Given the description of an element on the screen output the (x, y) to click on. 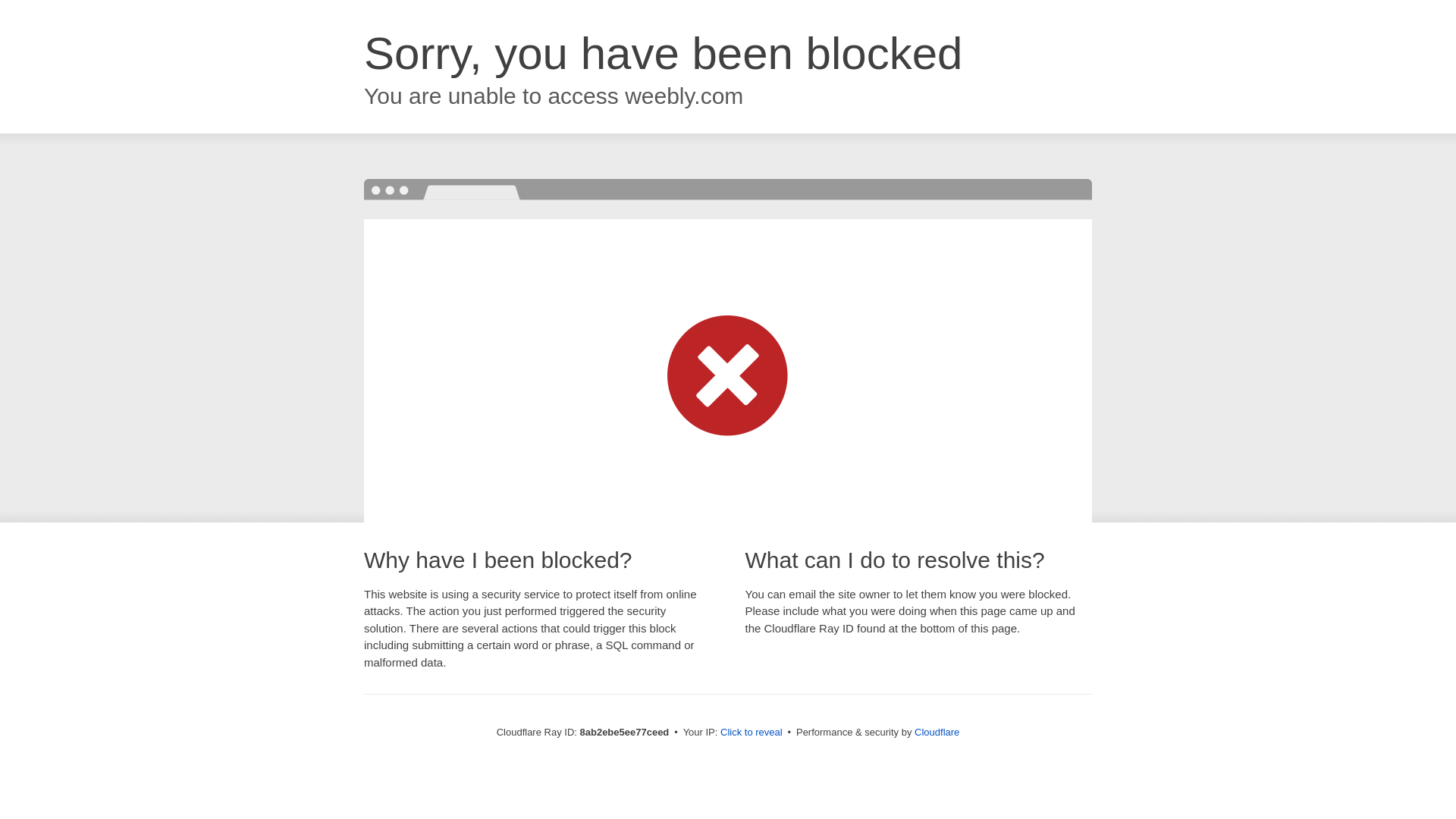
Click to reveal (751, 732)
Cloudflare (936, 731)
